Given the description of an element on the screen output the (x, y) to click on. 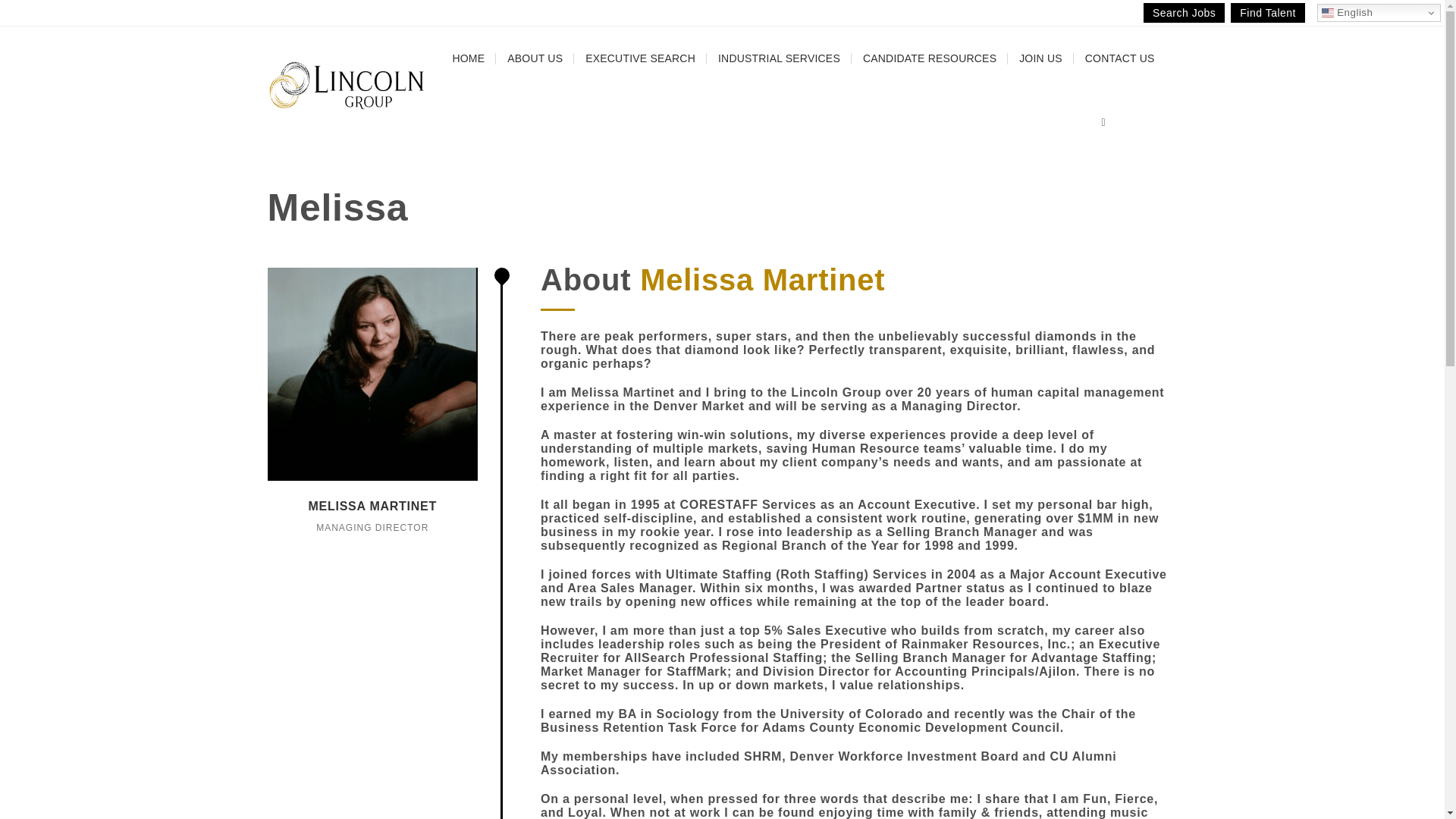
EXECUTIVE SEARCH (639, 58)
CONTACT US (1120, 58)
INDUSTRIAL SERVICES (778, 58)
Lincoln Group (345, 84)
CANDIDATE RESOURCES (929, 58)
Search Jobs (1183, 12)
JOIN US (1040, 58)
ABOUT US (534, 58)
English (1379, 13)
Find Talent (1267, 12)
